Given the description of an element on the screen output the (x, y) to click on. 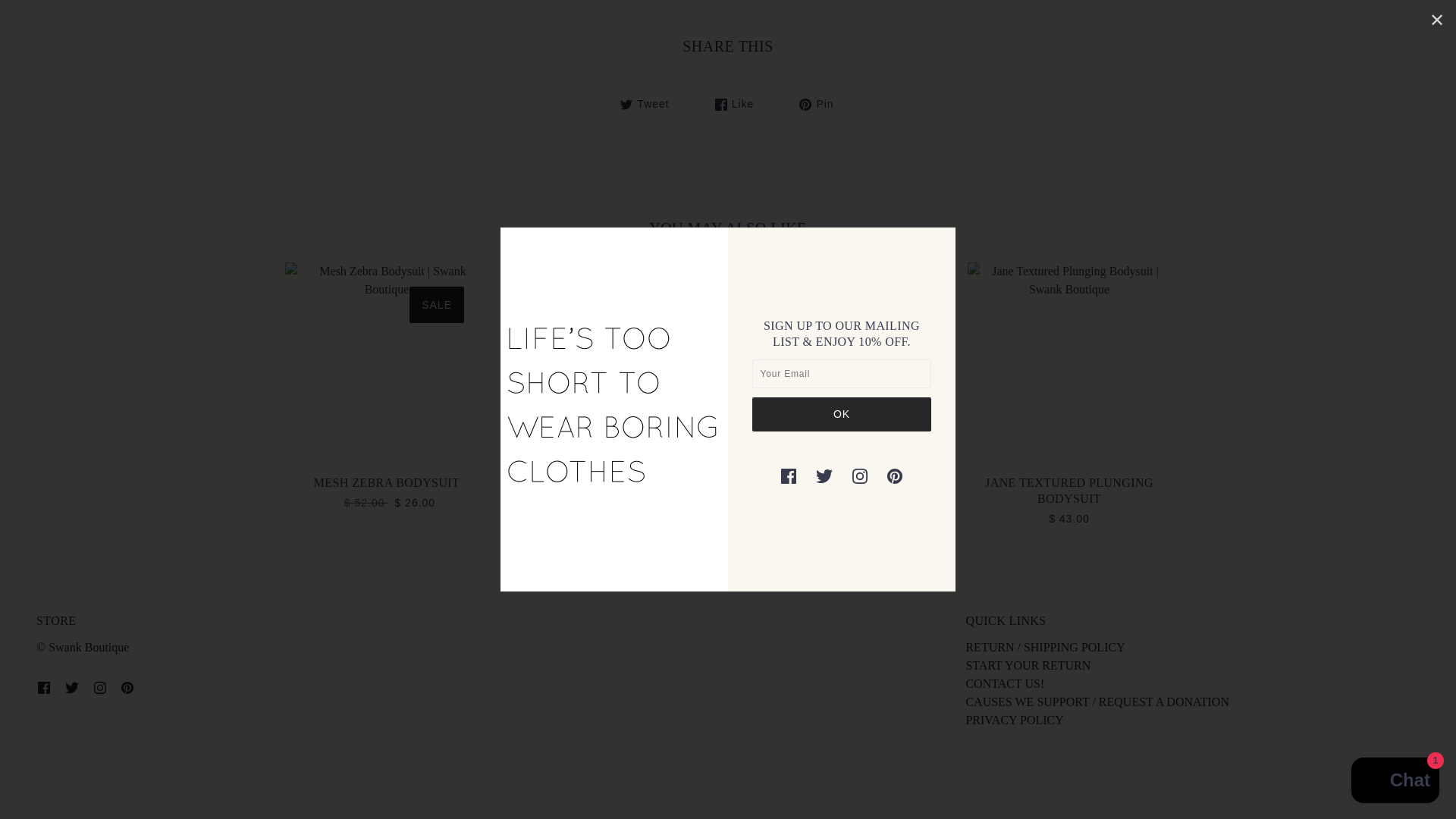
Mastercard (1337, 773)
American Express (1163, 773)
Discover (1233, 773)
Shop Pay (1372, 773)
Visa (1407, 773)
Google Pay (1302, 773)
Meta Pay (1267, 773)
Amazon (1128, 773)
Apple Pay (1198, 773)
